Given the description of an element on the screen output the (x, y) to click on. 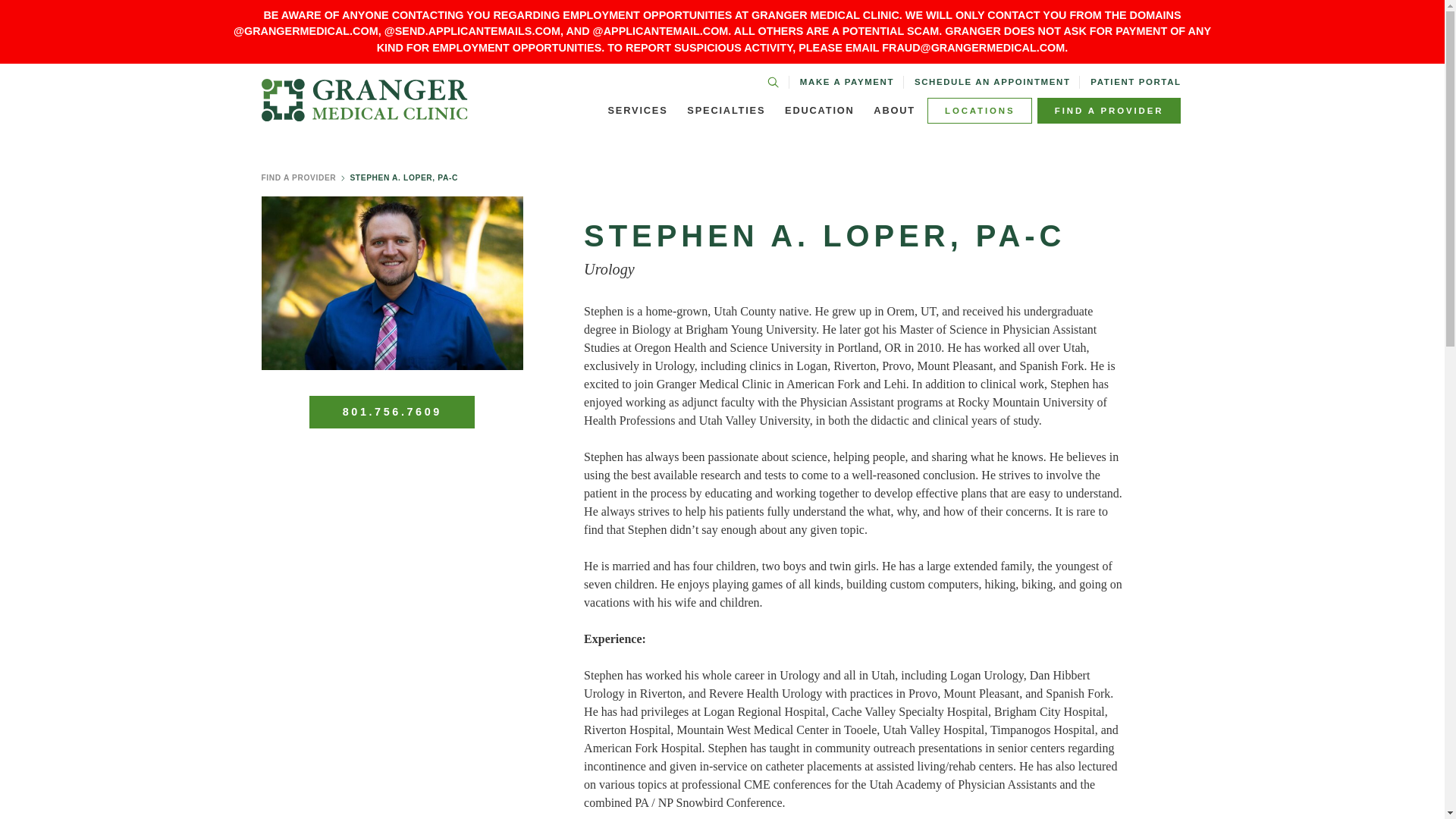
EDUCATION (819, 110)
ABOUT (894, 110)
PATIENT PORTAL (1135, 81)
MAKE A PAYMENT (846, 81)
FIND A PROVIDER (1108, 110)
FIND A PROVIDER (298, 177)
SPECIALTIES (726, 110)
LOCATIONS (979, 110)
801.756.7609 (391, 411)
SERVICES (636, 110)
SCHEDULE AN APPOINTMENT (992, 81)
